Given the description of an element on the screen output the (x, y) to click on. 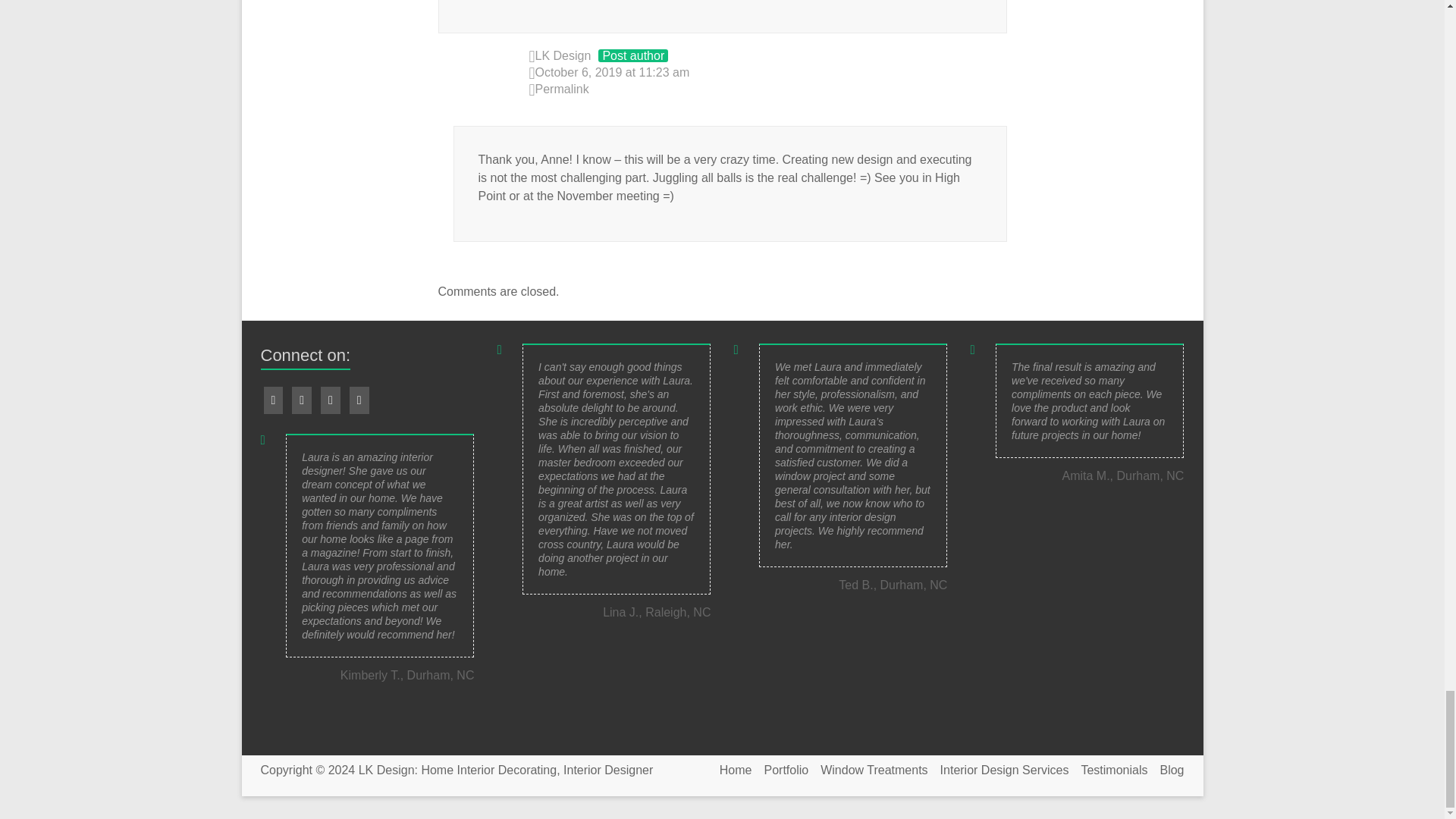
Interior Design Services (998, 770)
Permalink (768, 89)
Blog (1165, 770)
LK Design: Home Interior Decorating, Interior Designer (505, 769)
LK Design: Home Interior Decorating, Interior Designer (505, 769)
Window Treatments (867, 770)
Home (729, 770)
Portfolio (780, 770)
Testimonials (1107, 770)
